Given the description of an element on the screen output the (x, y) to click on. 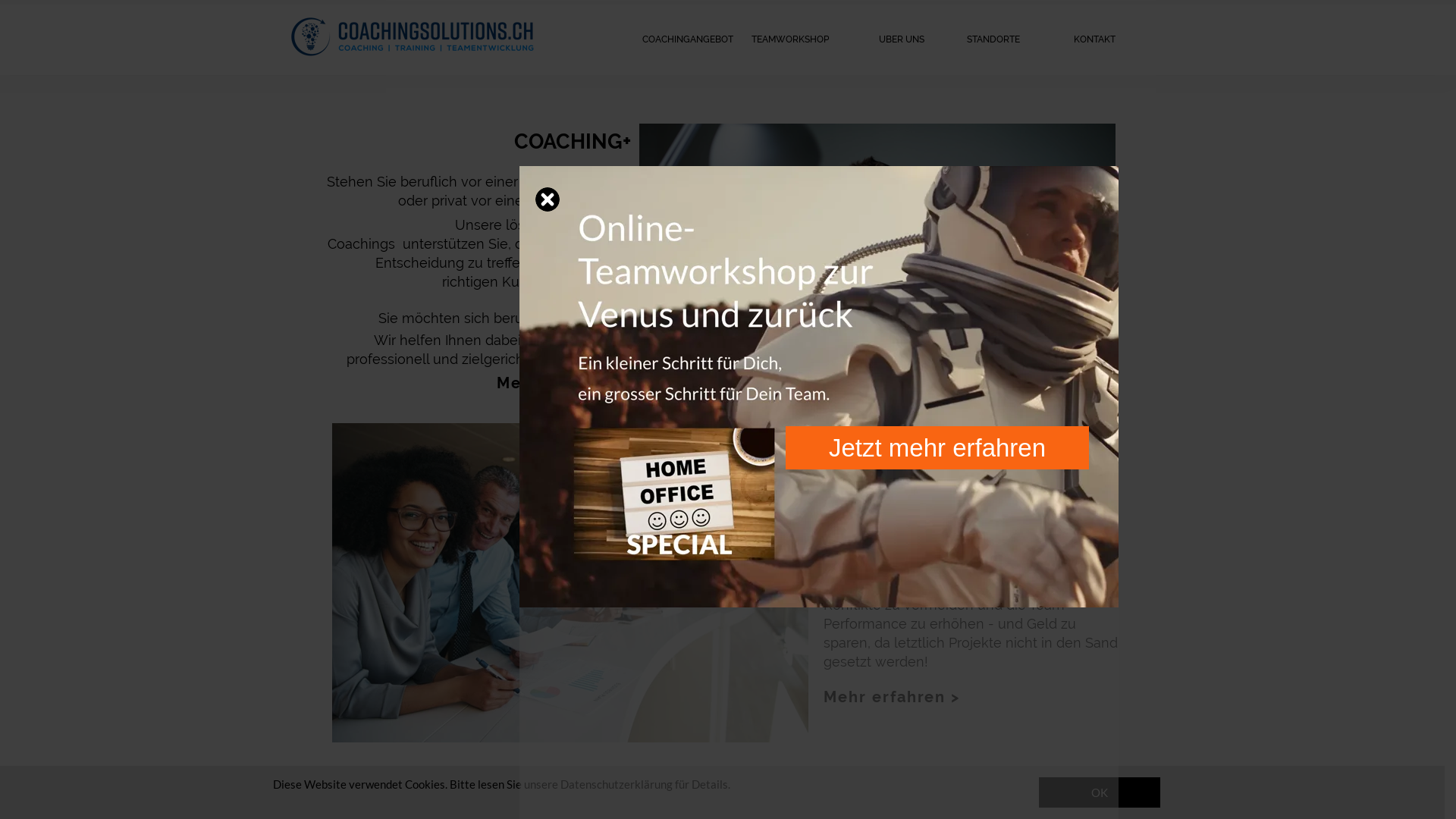
Mehr erfahren > Element type: text (891, 696)
Jetzt mehr erfahren Element type: text (936, 447)
OK Element type: text (1099, 792)
Mehr erfahren > Element type: text (563, 382)
  Element type: text (547, 199)
